Given the description of an element on the screen output the (x, y) to click on. 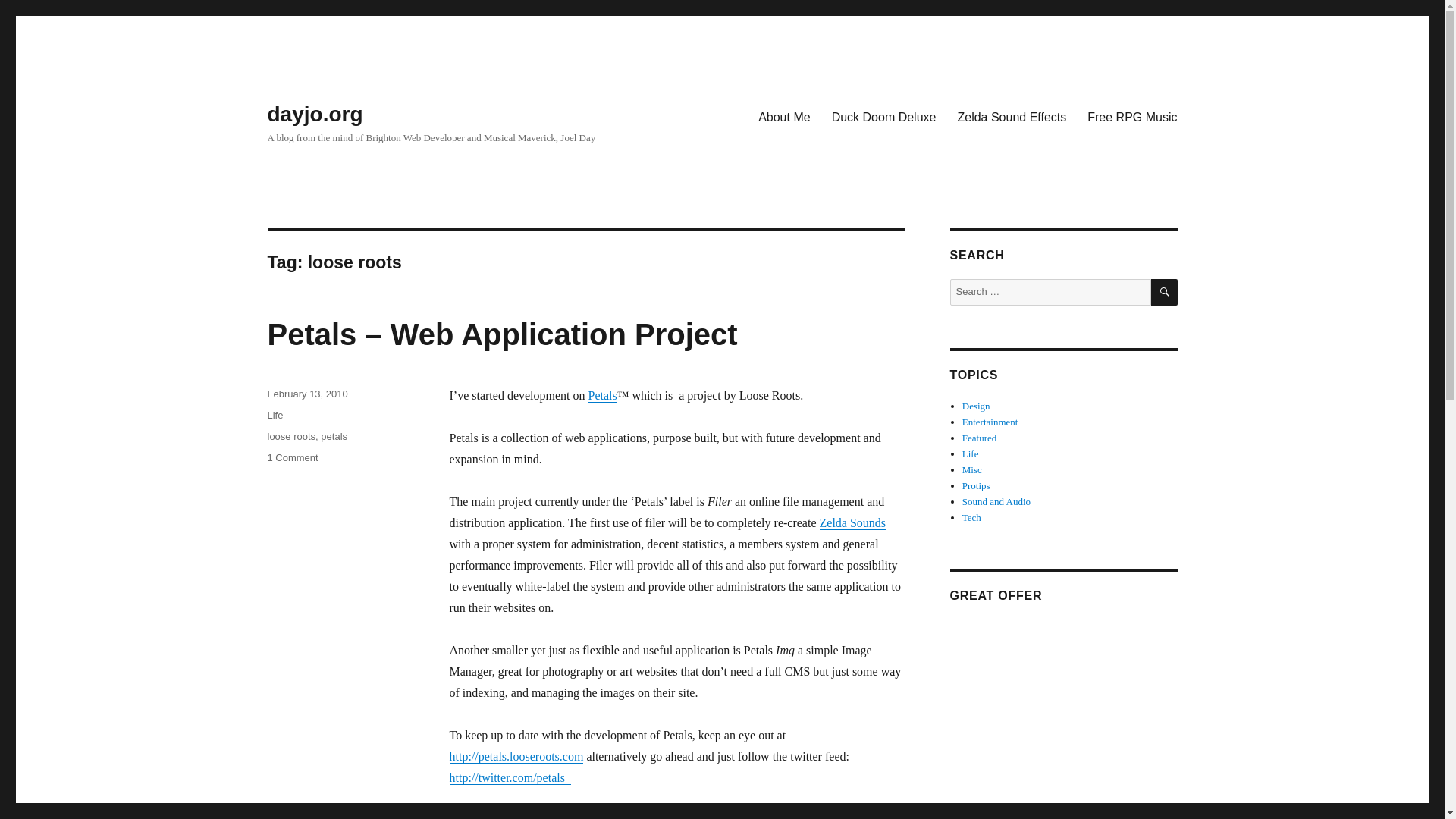
Zelda Sound Effects (1011, 116)
Duck Doom Deluxe (884, 116)
Misc (971, 469)
Design (976, 405)
petals (333, 436)
Petals (602, 395)
Life (970, 453)
Zelda Sounds (851, 522)
About Me (784, 116)
SEARCH (1164, 292)
Life (274, 414)
Free RPG Music (1132, 116)
Loose Roots - Petals (602, 395)
loose roots (290, 436)
Featured (978, 437)
